Given the description of an element on the screen output the (x, y) to click on. 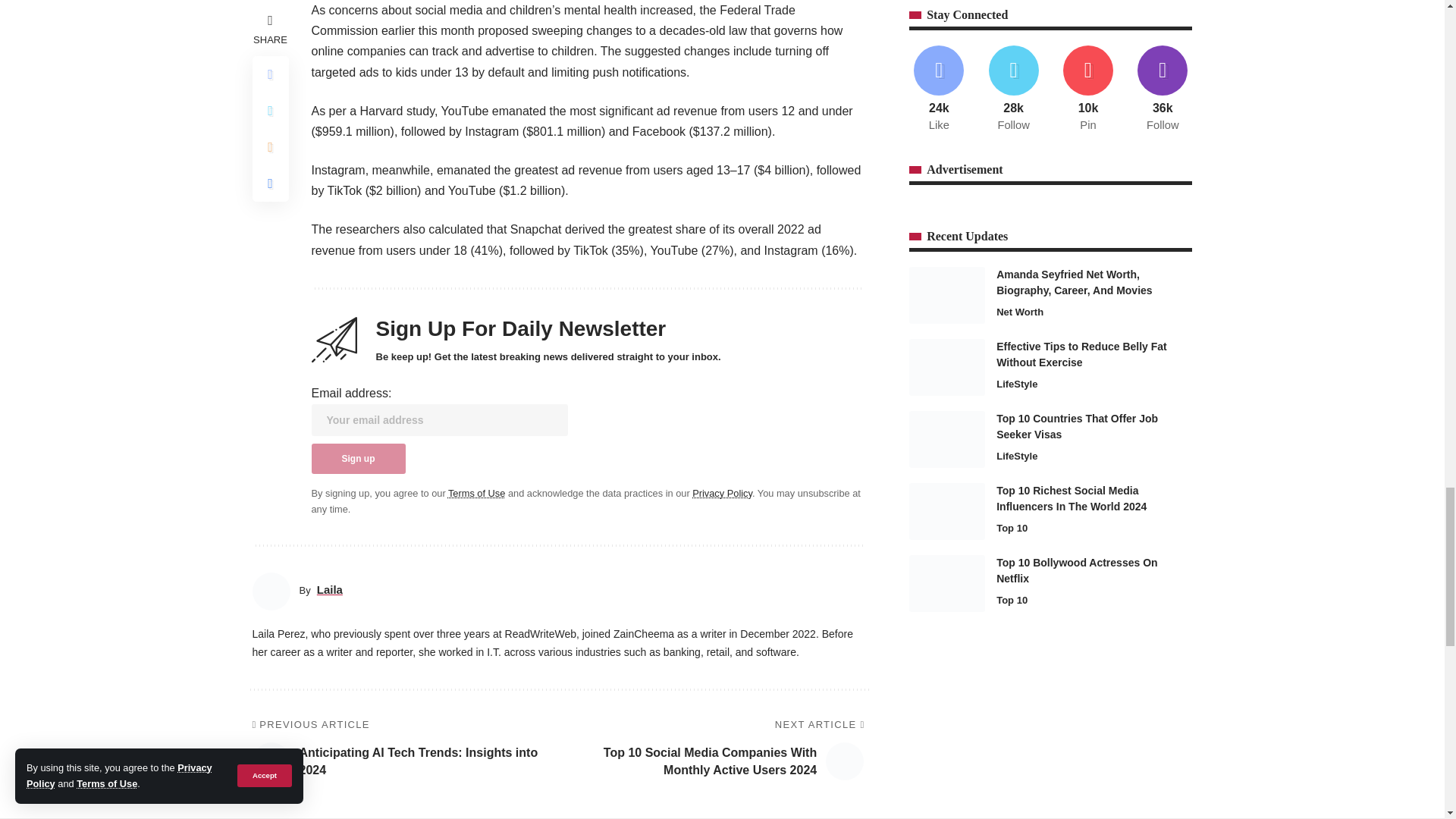
Sign up (357, 458)
